Given the description of an element on the screen output the (x, y) to click on. 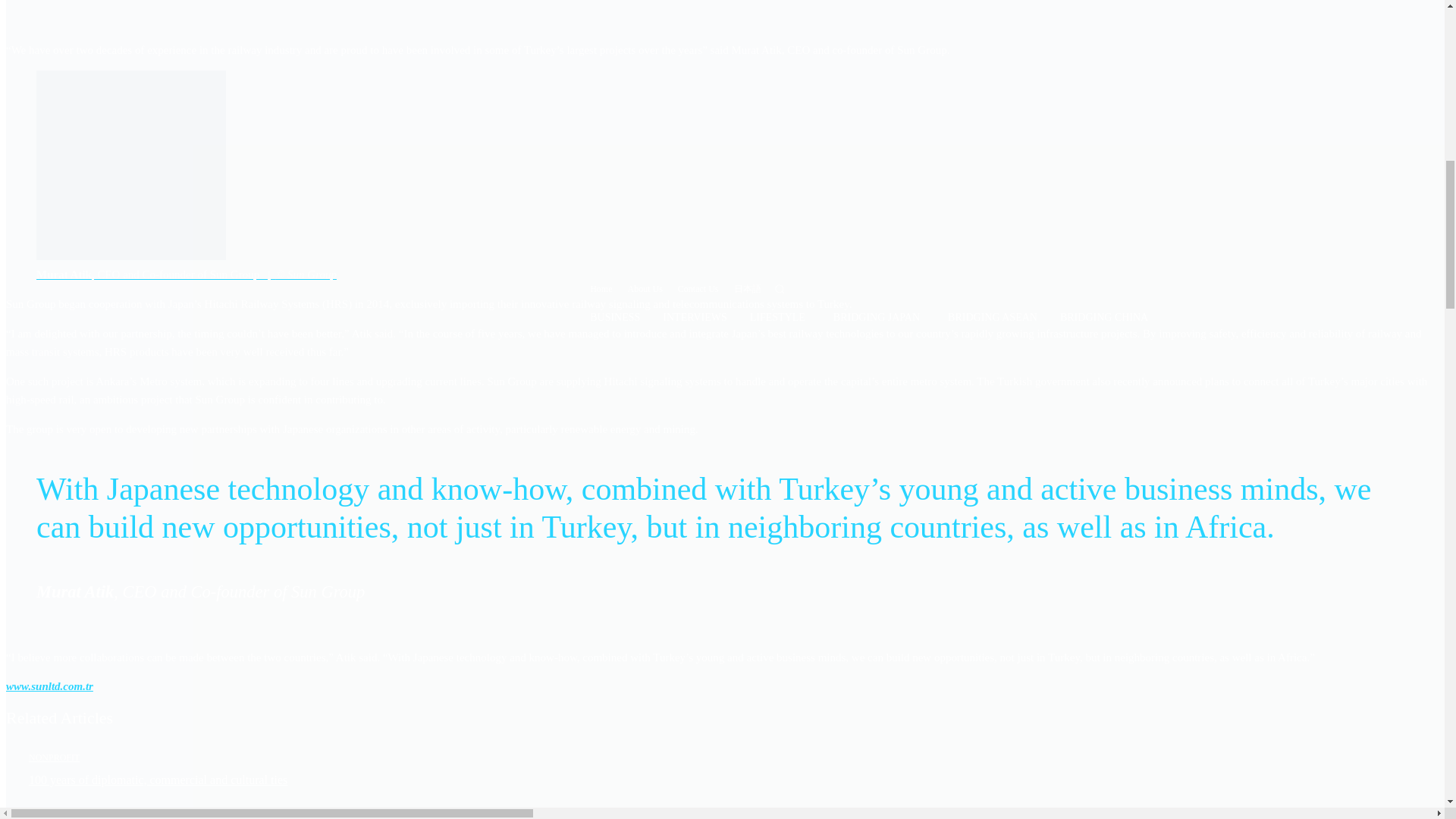
BRIDGING JAPAN (878, 317)
About Us (644, 288)
INTERVIEWS (694, 317)
LIFESTYLE (779, 317)
Home (601, 288)
BUSINESS (614, 317)
Contact Us (697, 288)
